Given the description of an element on the screen output the (x, y) to click on. 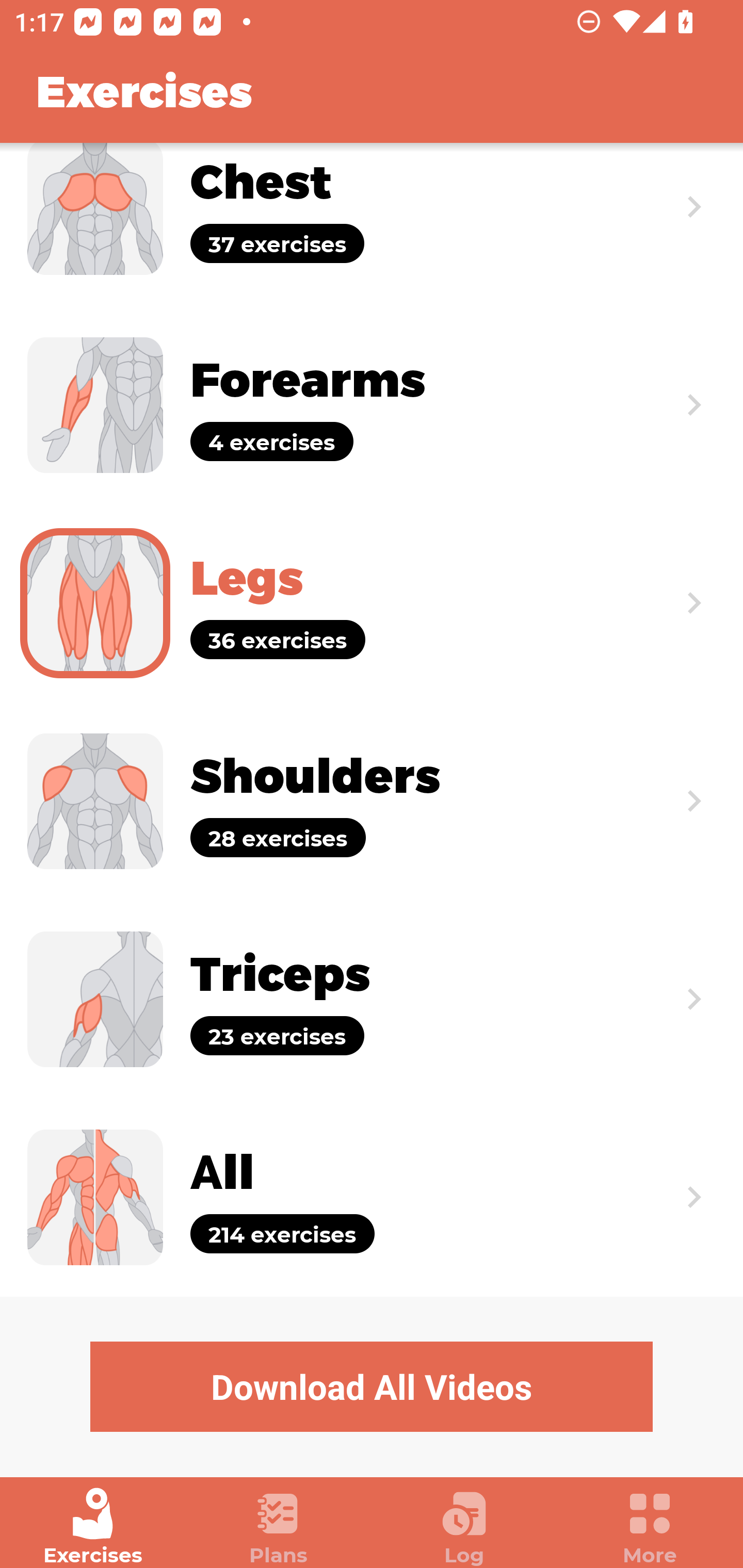
Exercise Chest 37 exercises (371, 223)
Exercise Forearms 4 exercises (371, 404)
Exercise Legs 36 exercises (371, 602)
Exercise Shoulders 28 exercises (371, 801)
Exercise Triceps 23 exercises (371, 999)
Exercise Аll 214 exercises (371, 1196)
Download All Videos (371, 1386)
Exercises (92, 1527)
Plans (278, 1527)
Log (464, 1527)
More (650, 1527)
